Given the description of an element on the screen output the (x, y) to click on. 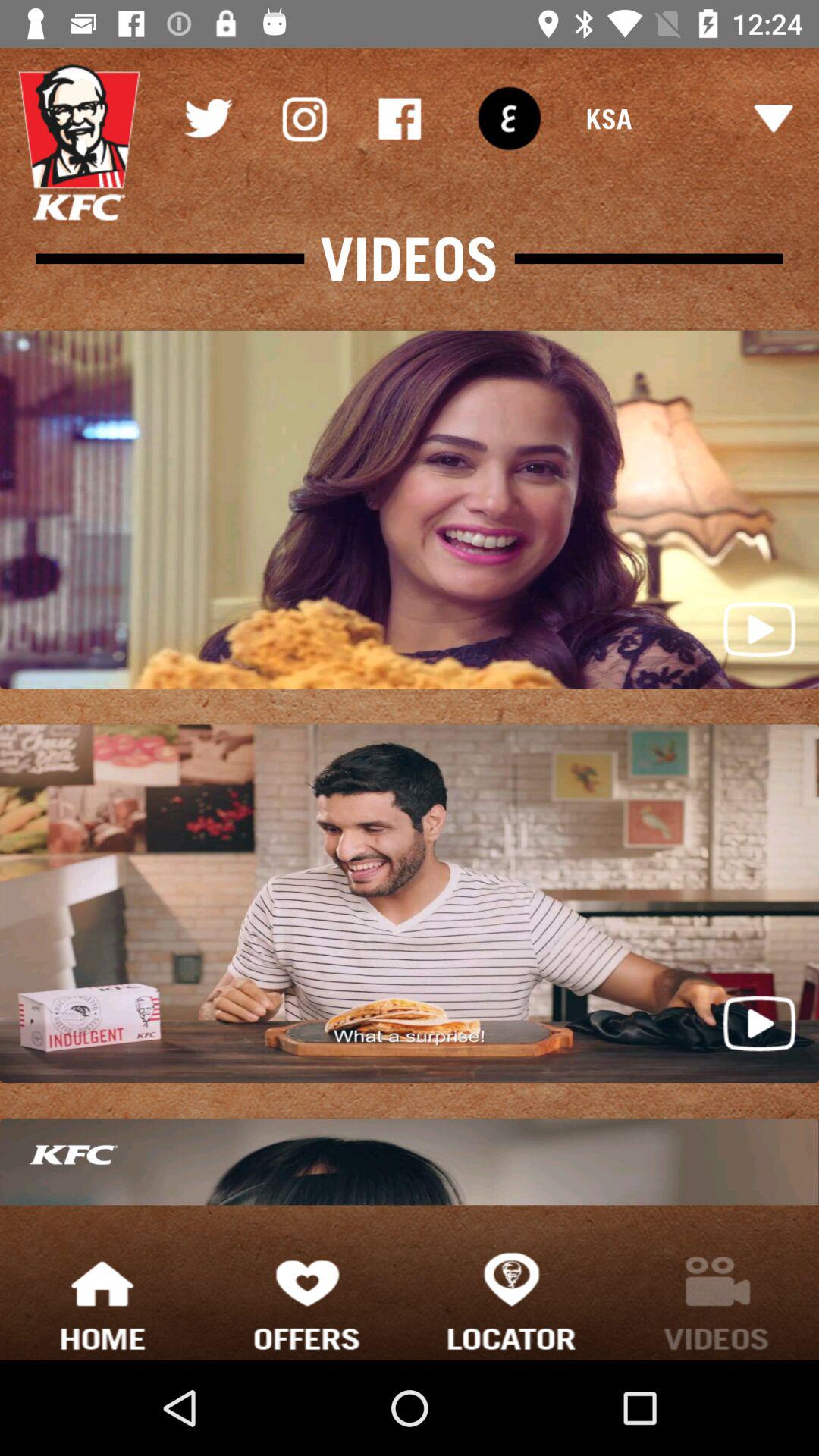
swipe to ksa item (688, 118)
